Given the description of an element on the screen output the (x, y) to click on. 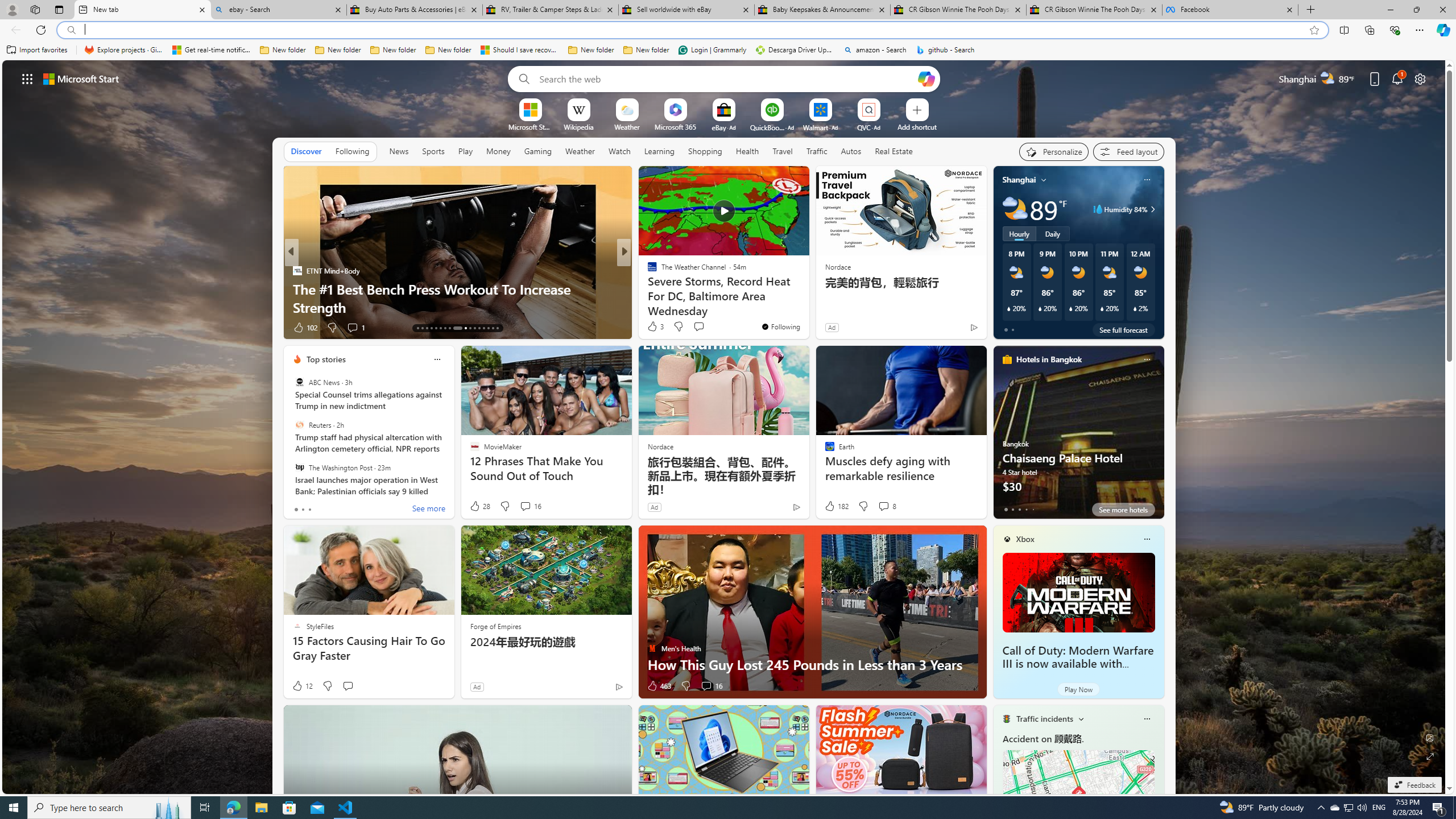
View comments 167 Comment (703, 327)
Descarga Driver Updater (794, 49)
Shopping (705, 151)
tab-3 (1025, 509)
Wikipedia (578, 126)
The #1 Best Bench Press Workout To Increase Strength (457, 298)
hotels-header-icon (1006, 358)
12 Like (301, 685)
102 Like (304, 327)
